Given the description of an element on the screen output the (x, y) to click on. 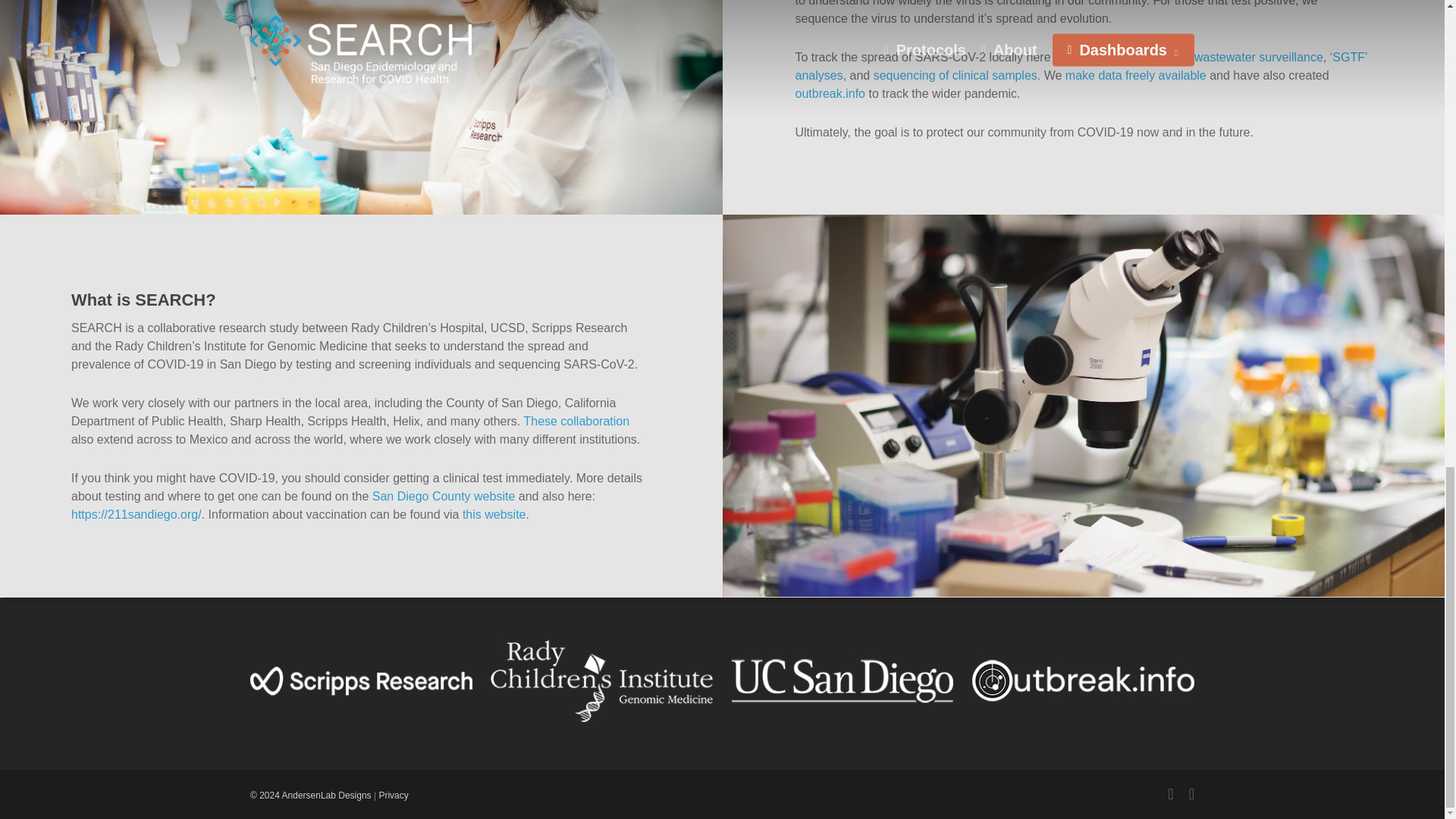
San Diego County website (443, 495)
this website (494, 513)
sequencing of clinical samples (954, 74)
make data freely available (1136, 74)
These collaboration (575, 420)
outbreak.info (829, 92)
wastewater surveillance (1258, 56)
